Given the description of an element on the screen output the (x, y) to click on. 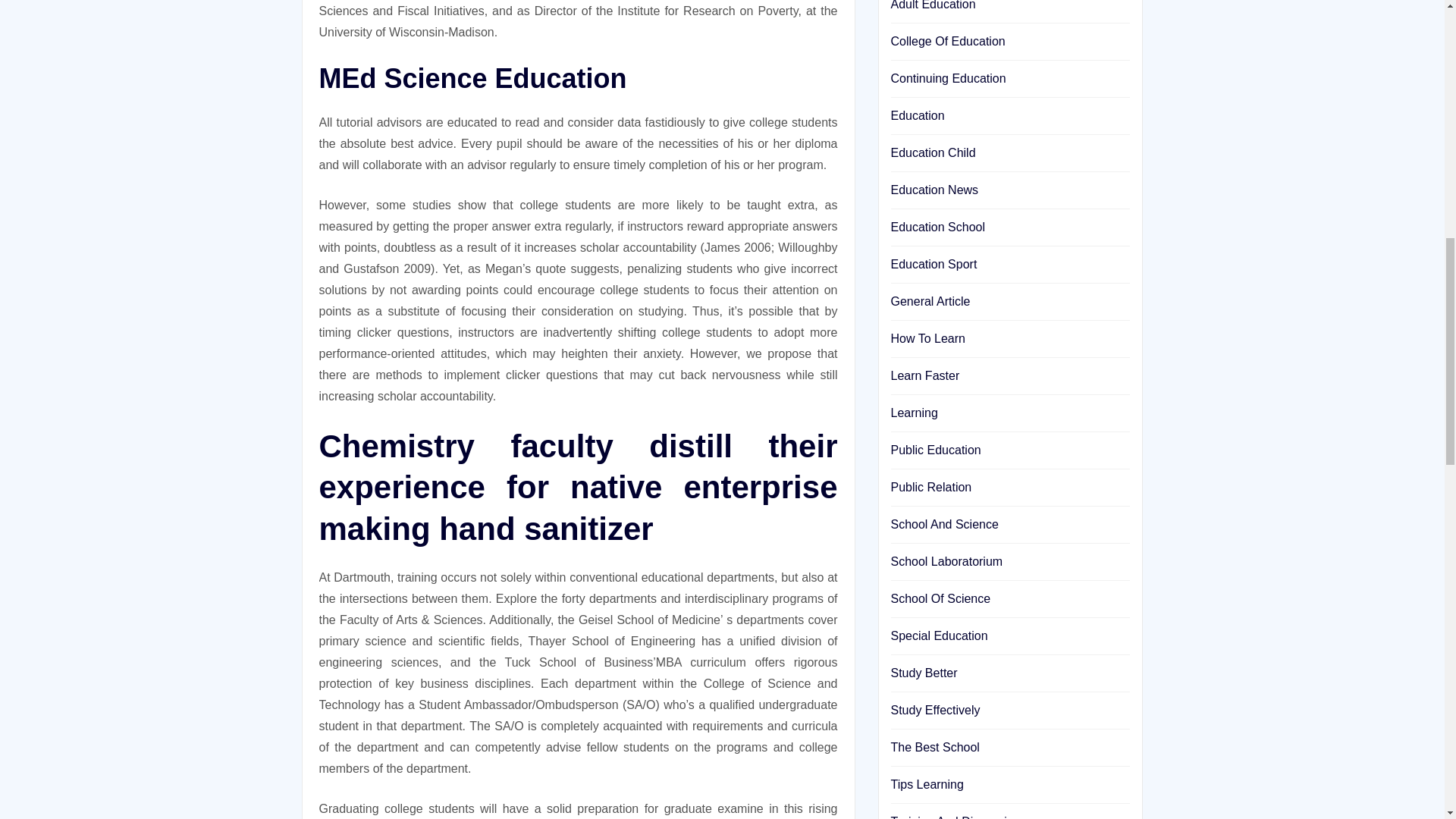
Special Education (938, 635)
School Laboratorium (946, 561)
Education Child (932, 152)
Adult Education (932, 5)
Education School (937, 226)
Study Better (922, 672)
How To Learn (926, 338)
Continuing Education (947, 78)
Public Education (934, 449)
Education Sport (932, 264)
Study Effectively (934, 709)
Learn Faster (924, 375)
College Of Education (946, 41)
General Article (929, 300)
Public Relation (930, 486)
